Given the description of an element on the screen output the (x, y) to click on. 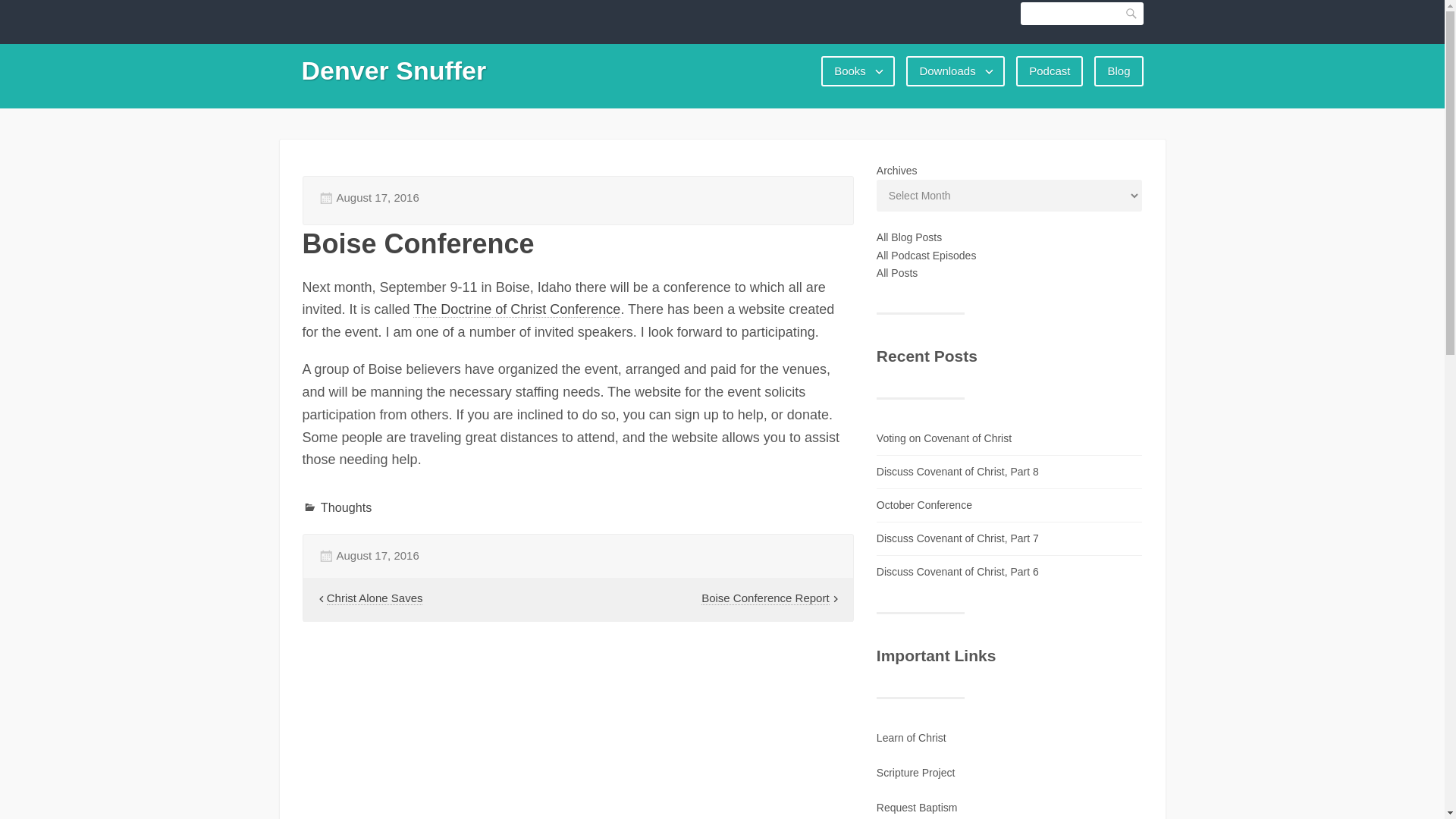
Denver Snuffer (393, 70)
Downloads (954, 71)
Blog (1118, 71)
Books (858, 71)
Books by Denver Snuffer Jr. (858, 71)
Search (1130, 13)
Podcast (1049, 71)
